Given the description of an element on the screen output the (x, y) to click on. 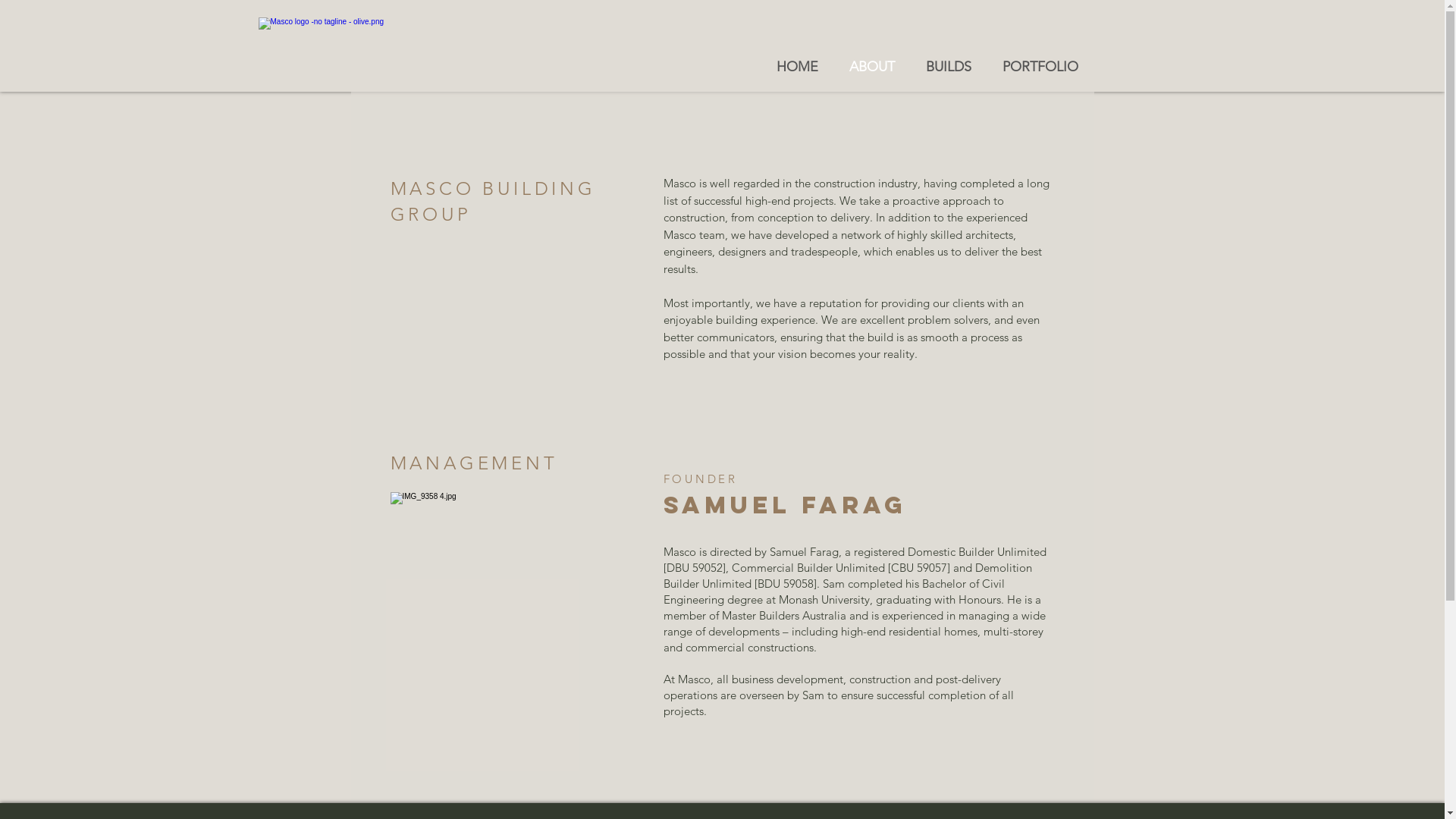
PORTFOLIO Element type: text (1040, 66)
HOME Element type: text (797, 66)
ABOUT Element type: text (872, 66)
BUILDS Element type: text (948, 66)
